Given the description of an element on the screen output the (x, y) to click on. 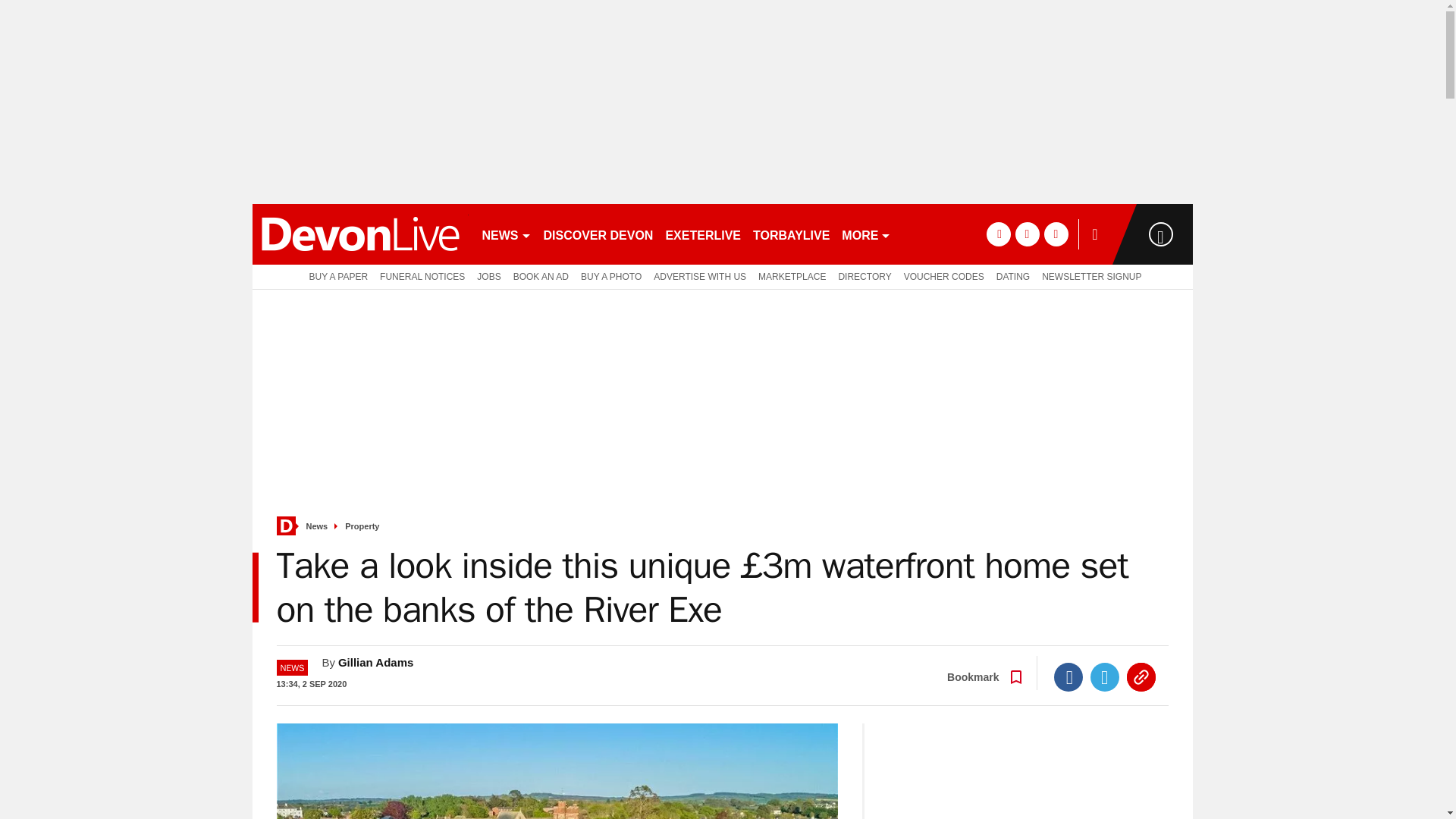
Twitter (1104, 676)
Facebook (1068, 676)
NEWS (506, 233)
instagram (1055, 233)
EXETERLIVE (702, 233)
TORBAYLIVE (790, 233)
twitter (1026, 233)
devonlive (359, 233)
DISCOVER DEVON (598, 233)
MORE (865, 233)
